Given the description of an element on the screen output the (x, y) to click on. 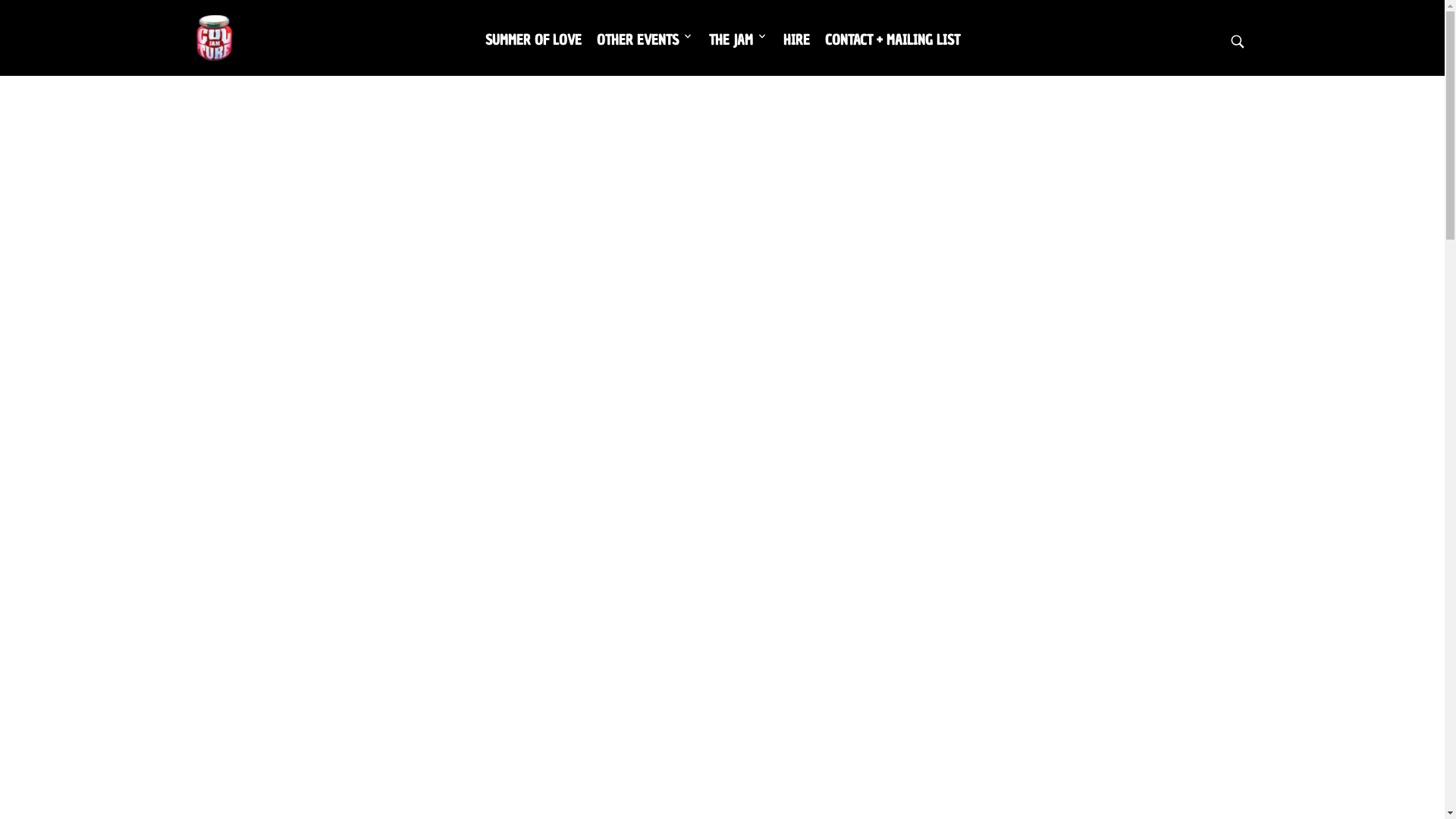
THE JAM Element type: text (733, 39)
SUMMER OF LOVE Element type: text (533, 39)
HIRE Element type: text (795, 39)
CONTACT + MAILING LIST Element type: text (892, 39)
OTHER EVENTS Element type: text (640, 39)
